Given the description of an element on the screen output the (x, y) to click on. 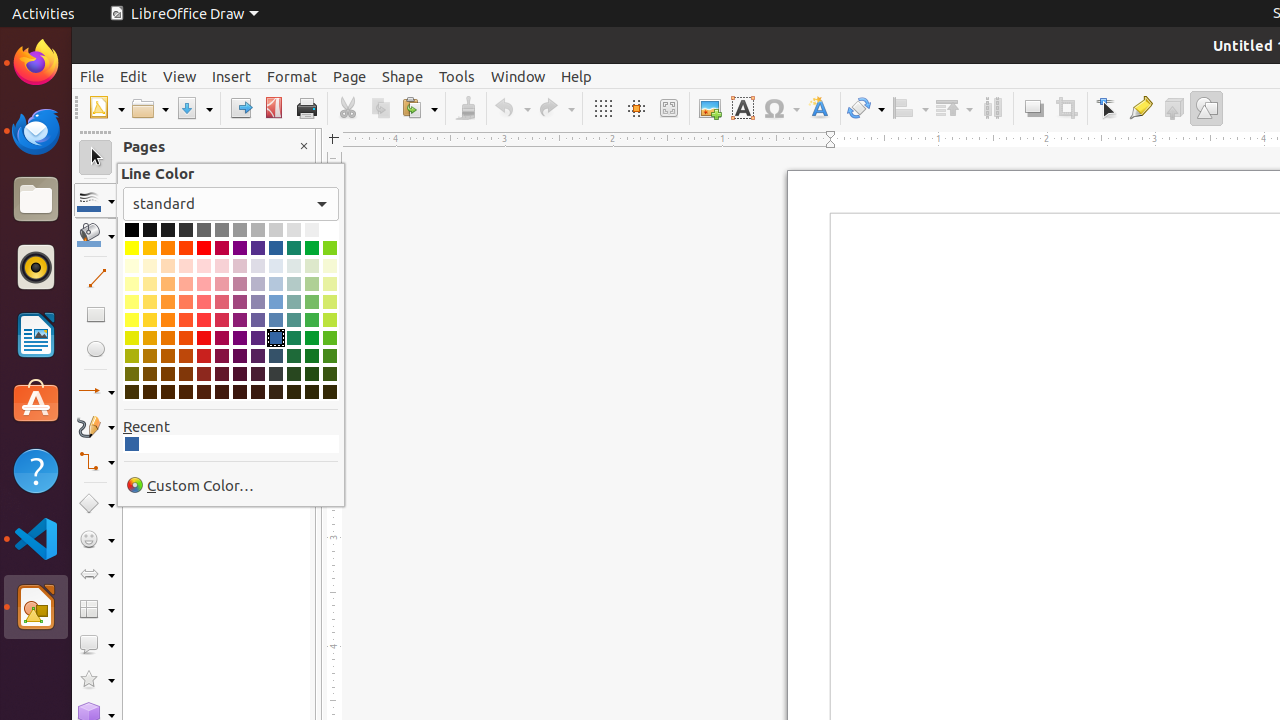
Ubuntu Software Element type: push-button (36, 402)
Dark Red 1 Element type: list-item (204, 338)
Light Blue 4 Element type: list-item (276, 266)
Dark Teal 1 Element type: list-item (294, 338)
Basic Shapes Element type: push-button (96, 504)
